Given the description of an element on the screen output the (x, y) to click on. 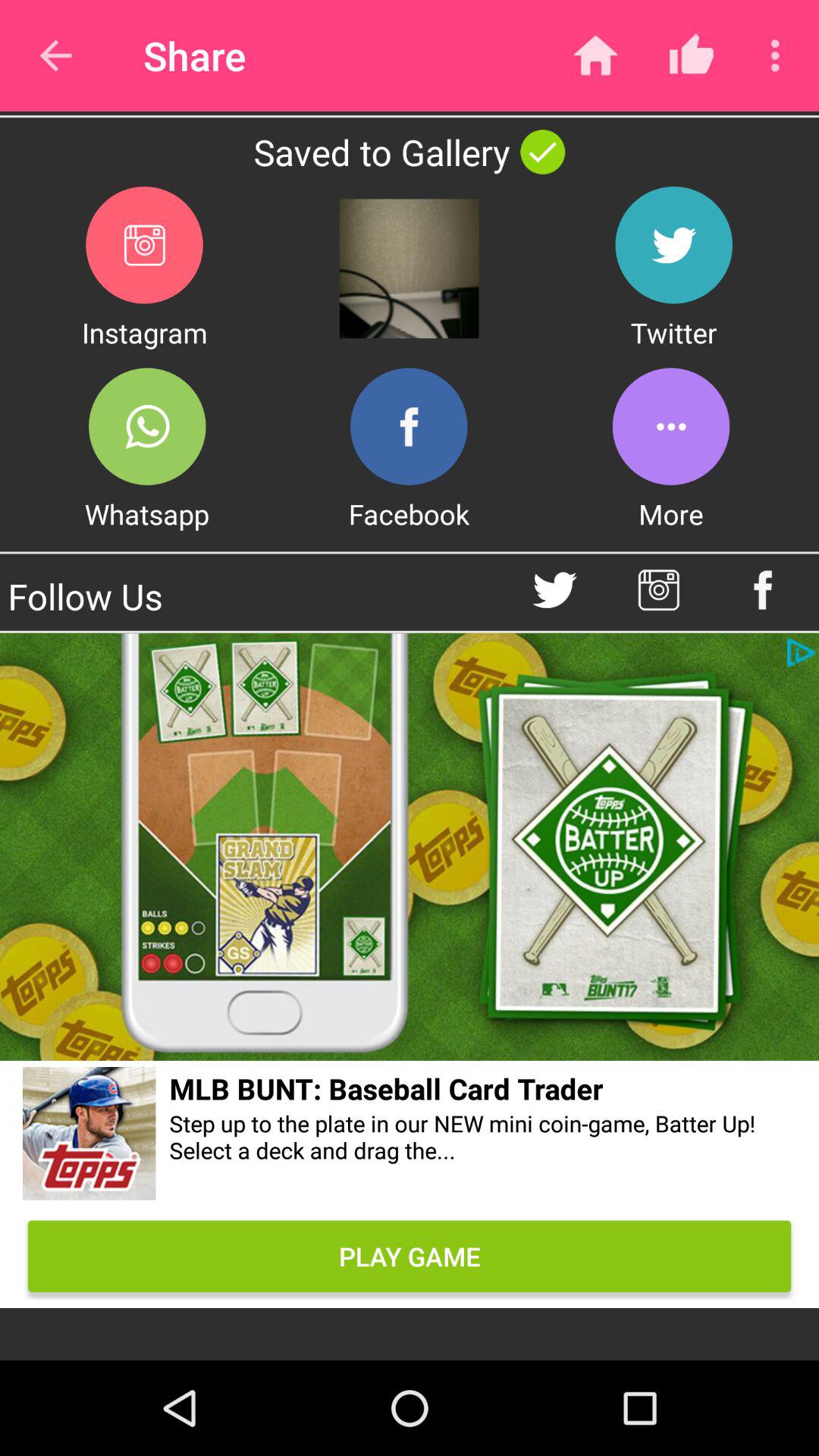
go to website (89, 1136)
